Given the description of an element on the screen output the (x, y) to click on. 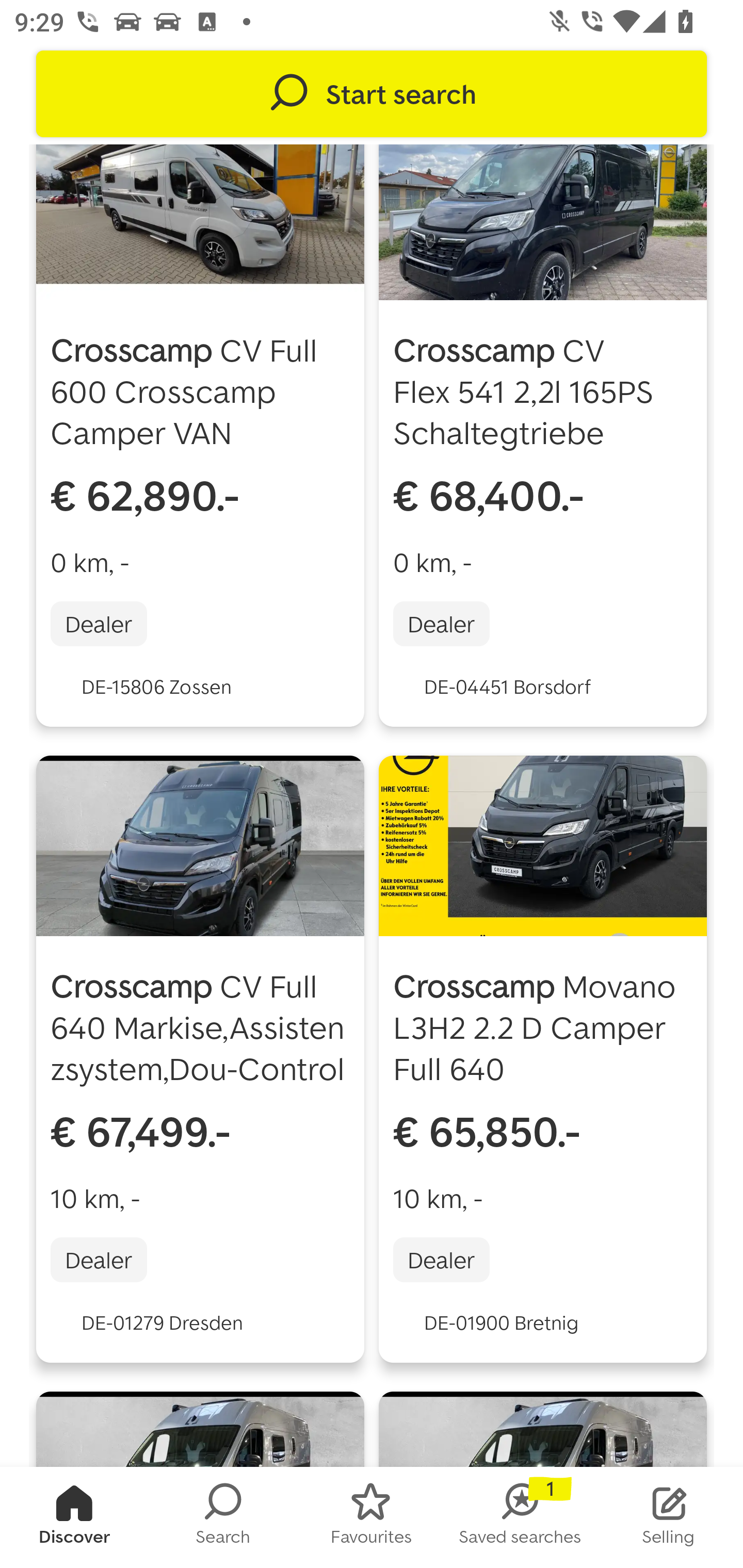
Start search (371, 93)
HOMESCREEN Discover (74, 1517)
SEARCH Search (222, 1517)
FAVORITES Favourites (371, 1517)
SAVED_SEARCHES Saved searches 1 (519, 1517)
STOCK_LIST Selling (668, 1517)
